Given the description of an element on the screen output the (x, y) to click on. 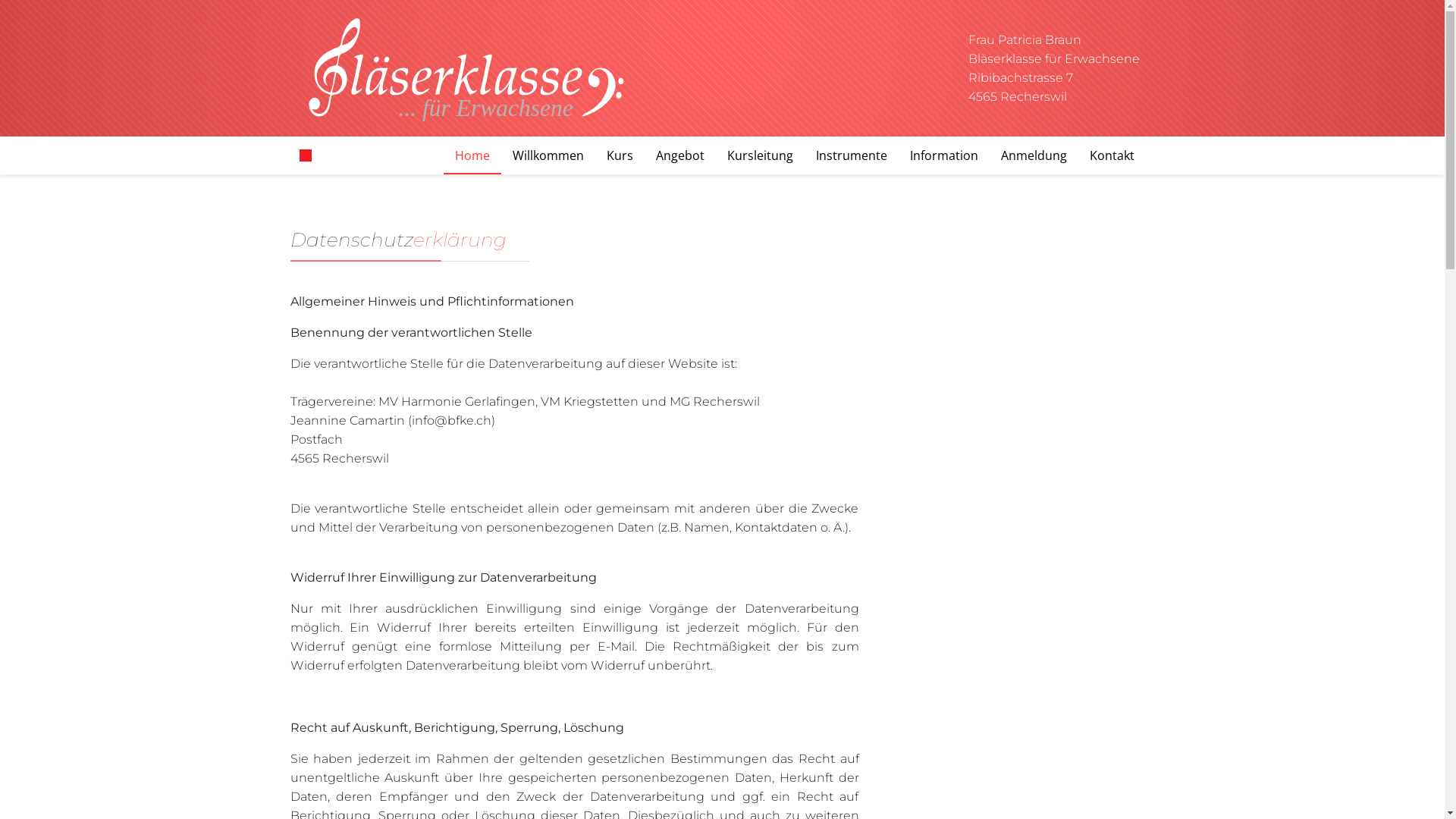
Kontakt Element type: text (1111, 155)
Angebot Element type: text (679, 155)
Kurs Element type: text (618, 155)
Home Element type: text (471, 155)
Kursleitung Element type: text (759, 155)
Instrumente Element type: text (850, 155)
Information Element type: text (942, 155)
Willkommen Element type: text (547, 155)
Anmeldung Element type: text (1032, 155)
